Given the description of an element on the screen output the (x, y) to click on. 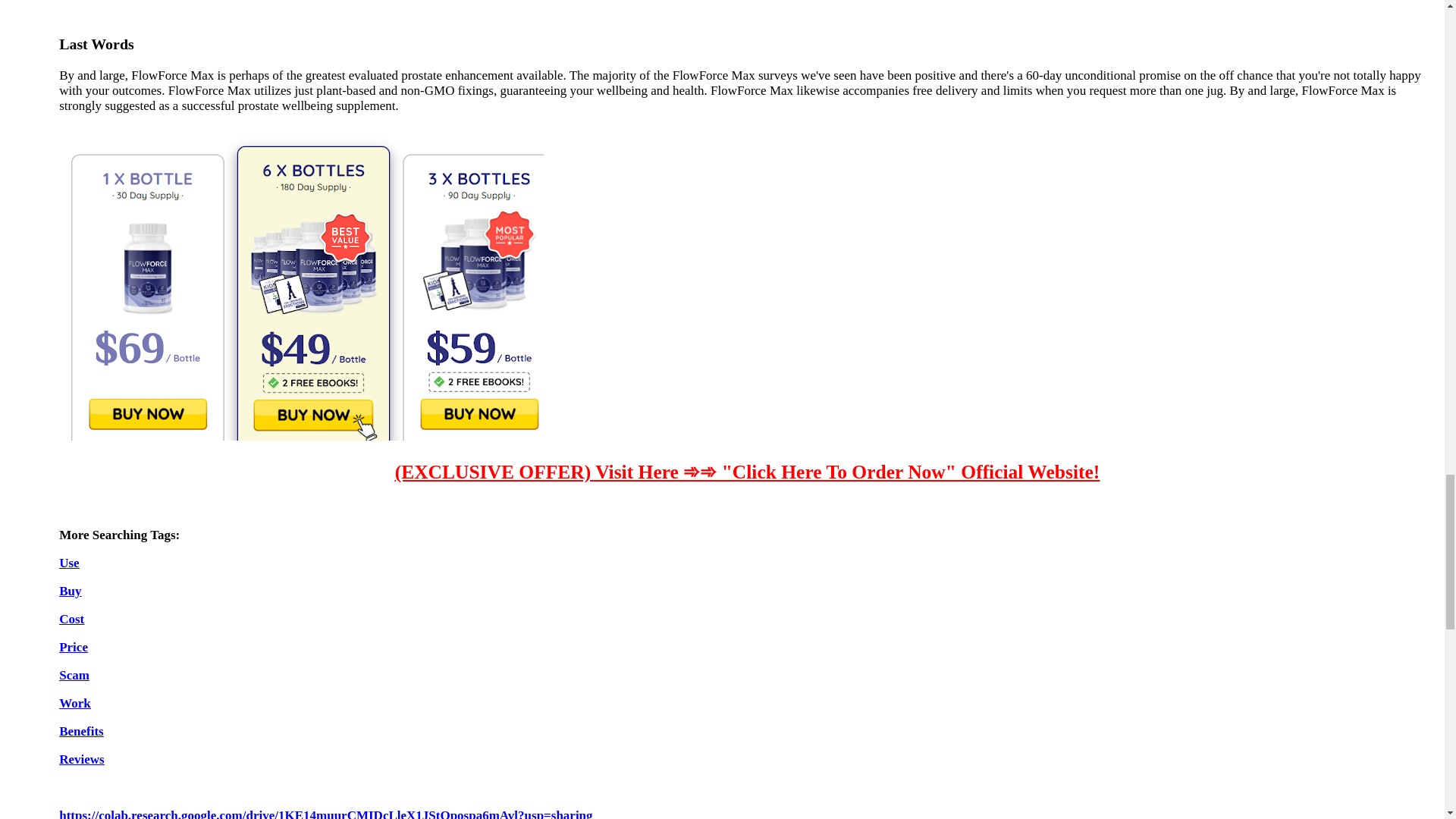
Scam (73, 675)
Buy (70, 590)
Price (73, 646)
Reviews (81, 759)
Benefits (81, 730)
Use (68, 563)
Cost (71, 618)
Work (74, 703)
